Given the description of an element on the screen output the (x, y) to click on. 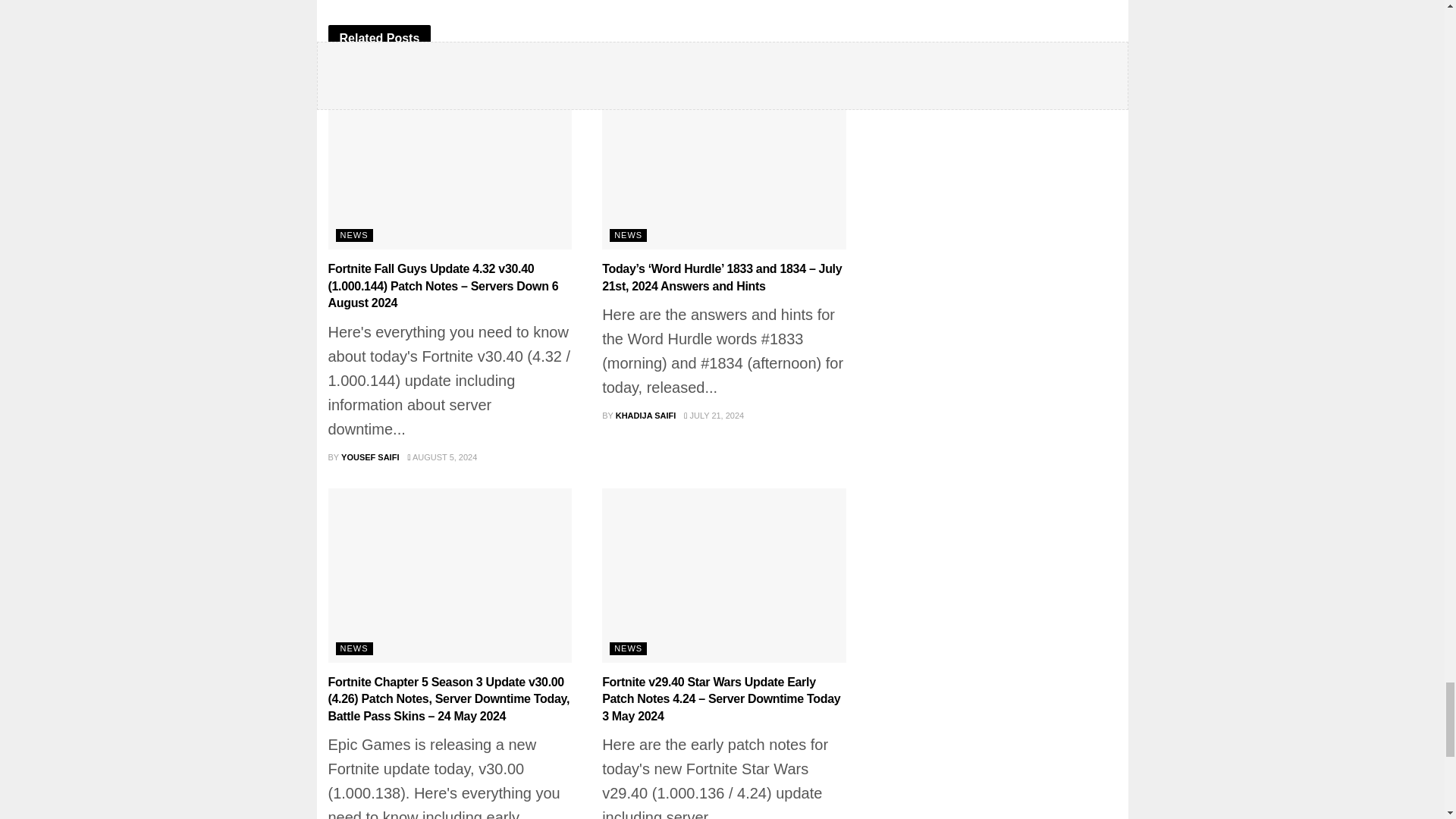
KHADIJA SAIFI (646, 415)
AUGUST 5, 2024 (442, 456)
NEWS (353, 235)
YOUSEF SAIFI (369, 456)
NEWS (628, 648)
JULY 21, 2024 (714, 415)
NEWS (628, 235)
NEWS (353, 648)
